Given the description of an element on the screen output the (x, y) to click on. 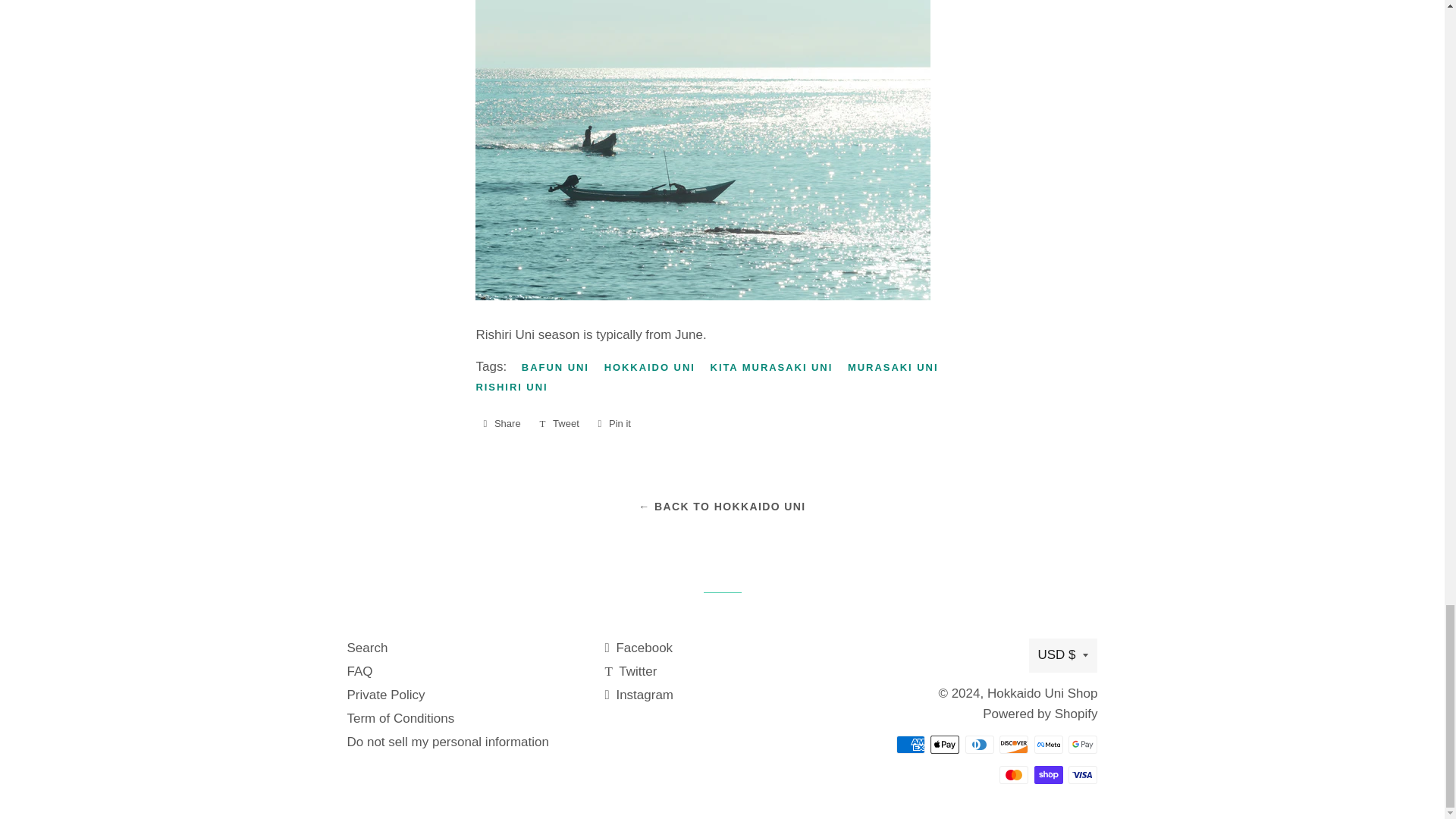
Pin on Pinterest (613, 423)
Diners Club (979, 744)
Apple Pay (944, 744)
Share on Facebook (501, 423)
Meta Pay (1047, 744)
Hokkaido Uni Shop on Twitter (630, 671)
Visa (1082, 774)
American Express (910, 744)
Discover (1012, 744)
Hokkaido Uni Shop on Facebook (638, 647)
Hokkaido Uni Shop on Instagram (638, 694)
Mastercard (1012, 774)
Google Pay (1082, 744)
Shop Pay (1047, 774)
Tweet on Twitter (558, 423)
